Given the description of an element on the screen output the (x, y) to click on. 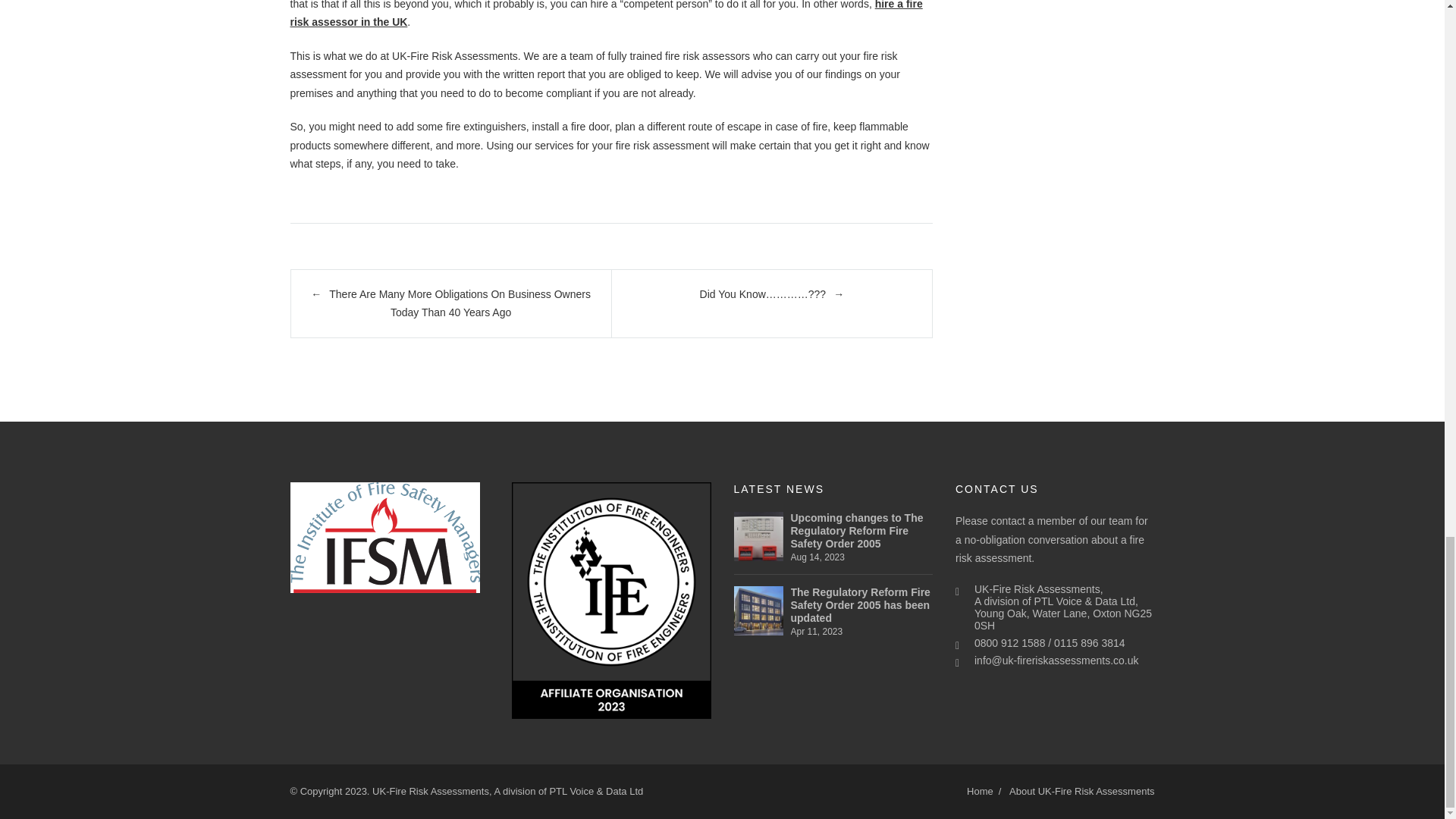
hire a fire risk assessor in the UK (605, 14)
